Given the description of an element on the screen output the (x, y) to click on. 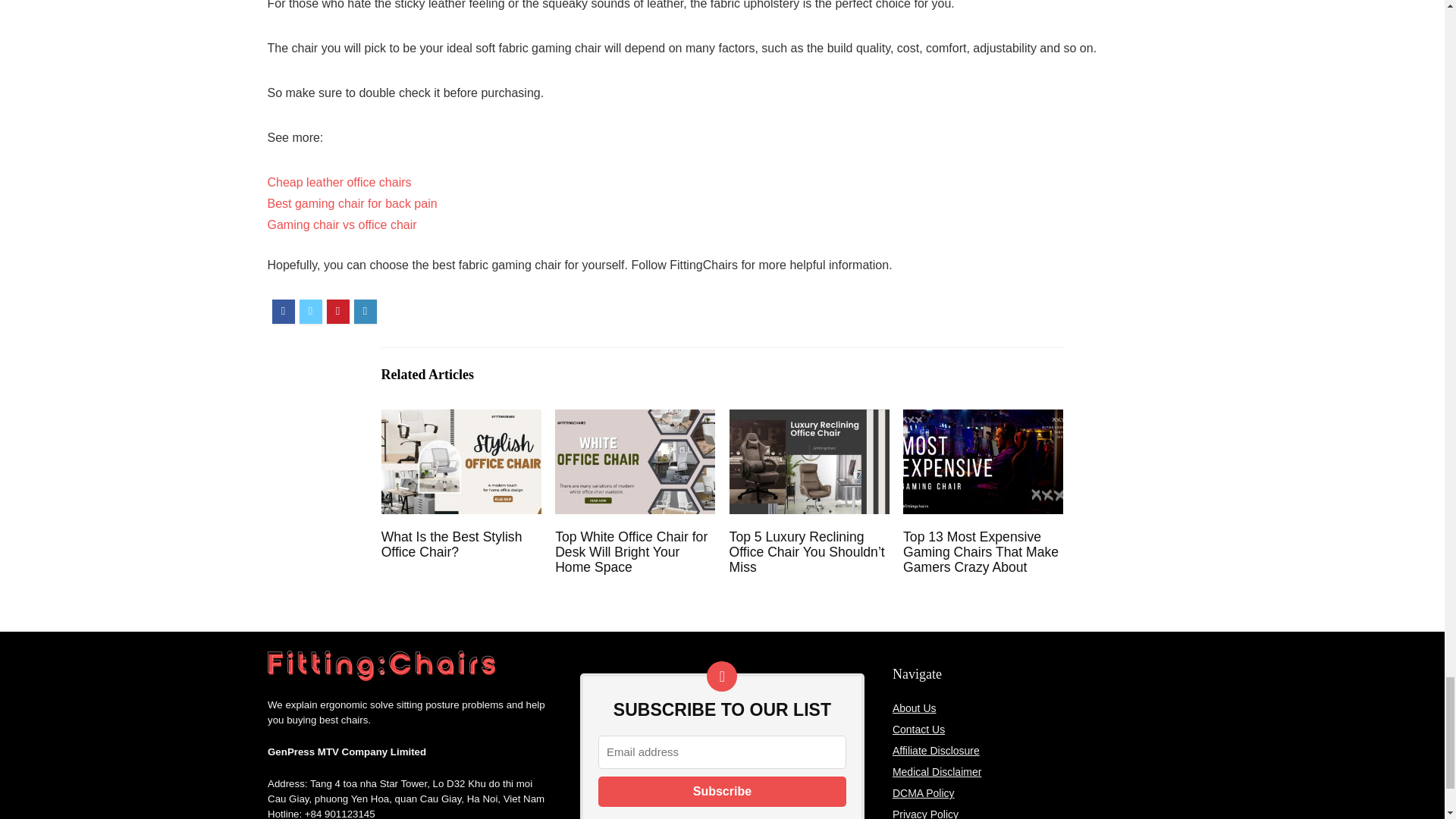
Subscribe (721, 791)
What Is the Best Stylish Office Chair? (451, 544)
Subscribe (721, 791)
About Us (914, 707)
Privacy Policy (925, 813)
Best gaming chair for back pain (351, 203)
Cheap leather office chairs (338, 182)
Gaming chair vs office chair (341, 224)
Medical Disclaimer (936, 771)
Contact Us (918, 729)
